Given the description of an element on the screen output the (x, y) to click on. 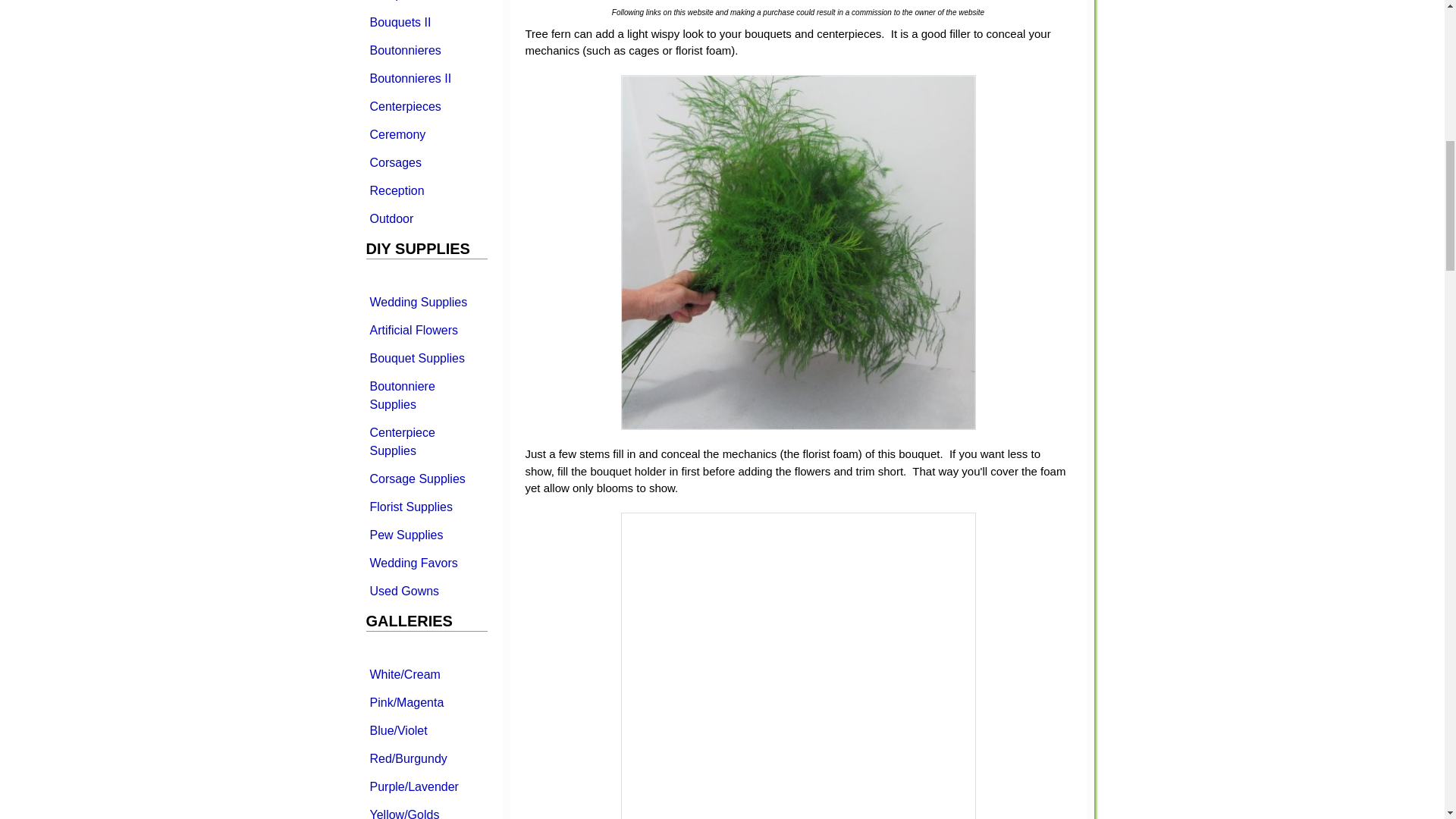
Corsages (425, 162)
Boutonniere Supplies (425, 394)
Centerpieces (425, 106)
Bouquets (425, 3)
Outdoor (425, 218)
Corsage Supplies (425, 478)
Florist Supplies (425, 507)
Bouquet Supplies (425, 358)
Boutonnieres II (425, 77)
Wedding Favors (425, 563)
Reception (425, 190)
Boutonnieres (425, 50)
Artificial Flowers (425, 329)
Wedding Supplies (425, 302)
Bouquets II (425, 22)
